Given the description of an element on the screen output the (x, y) to click on. 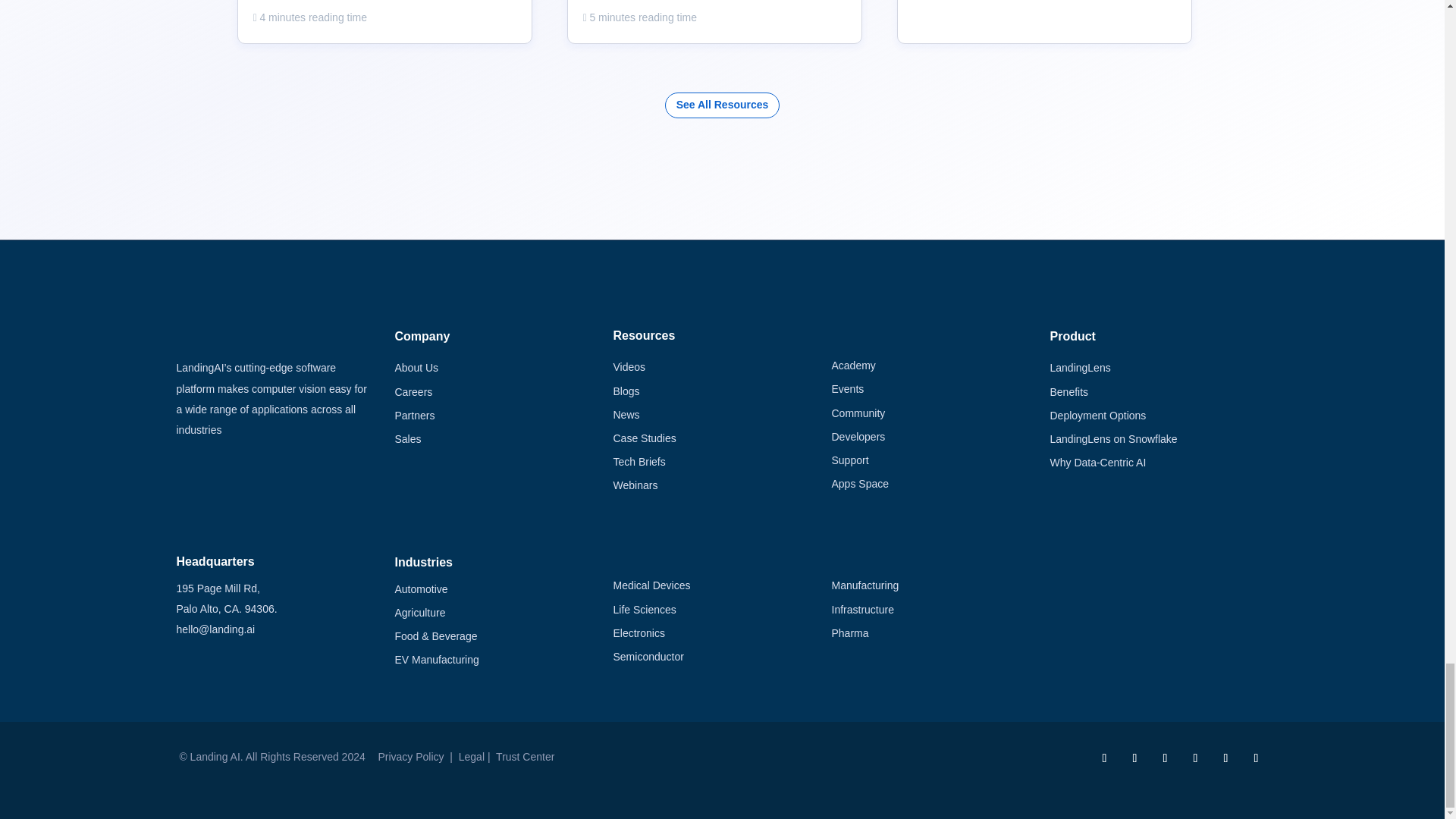
Follow on Instagram (1255, 758)
Follow on LinkedIn (1104, 758)
Follow on TikTok (1194, 758)
Follow on Youtube (1224, 758)
Follow on Facebook (1164, 758)
LandingAI-logo-primary-reverse-RGB (239, 333)
Follow on X (1134, 758)
